Given the description of an element on the screen output the (x, y) to click on. 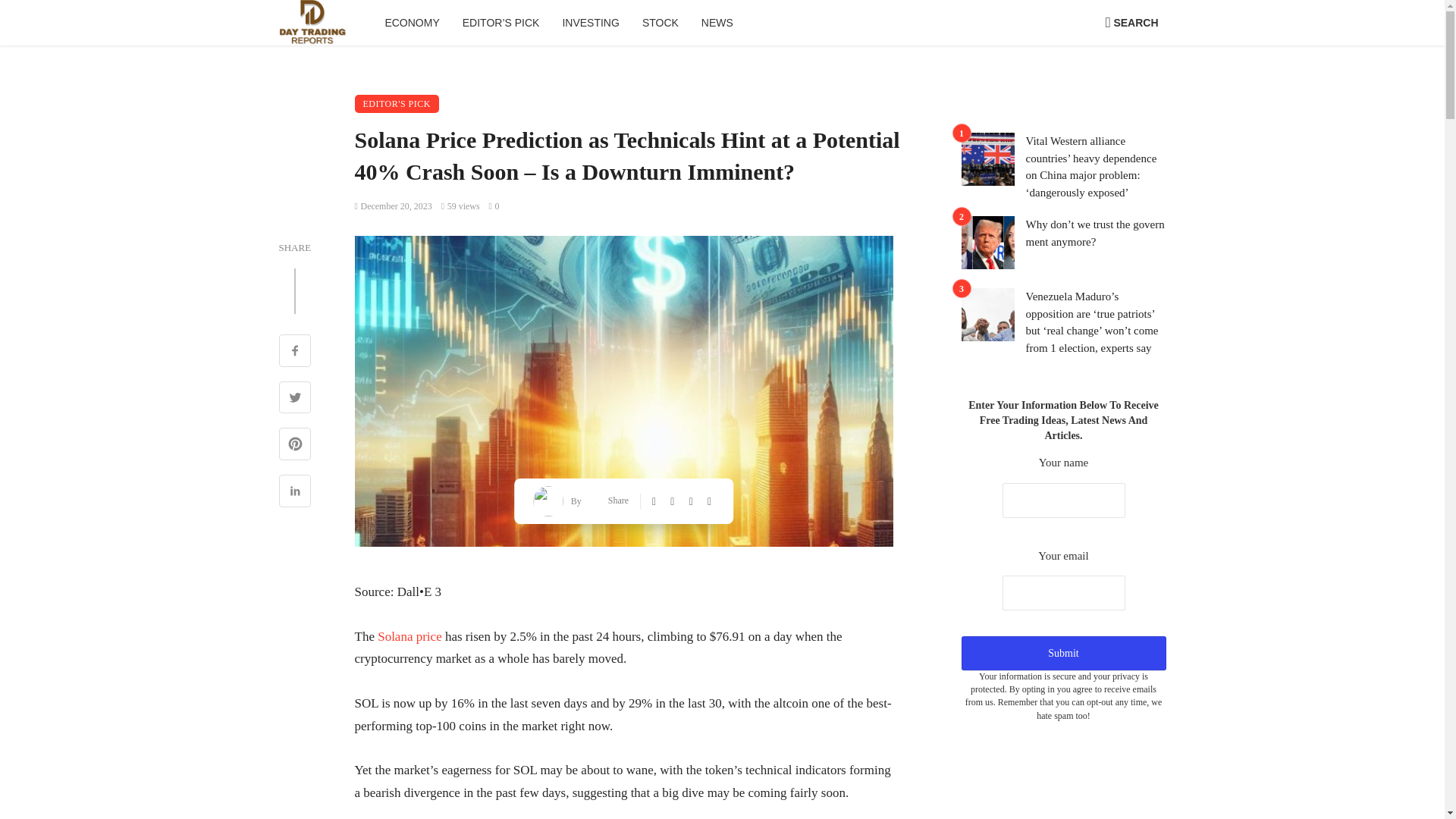
Share on Pinterest (295, 445)
SEARCH (1131, 22)
Submit (1063, 653)
Share on Facebook (295, 352)
ECONOMY (410, 22)
Solana price (409, 636)
Share on Twitter (295, 399)
0 Comments (494, 205)
December 20, 2023 at 11:55 am (393, 205)
EDITOR'S PICK (397, 104)
Share on Linkedin (295, 493)
NEWS (717, 22)
STOCK (660, 22)
0 (494, 205)
INVESTING (590, 22)
